Given the description of an element on the screen output the (x, y) to click on. 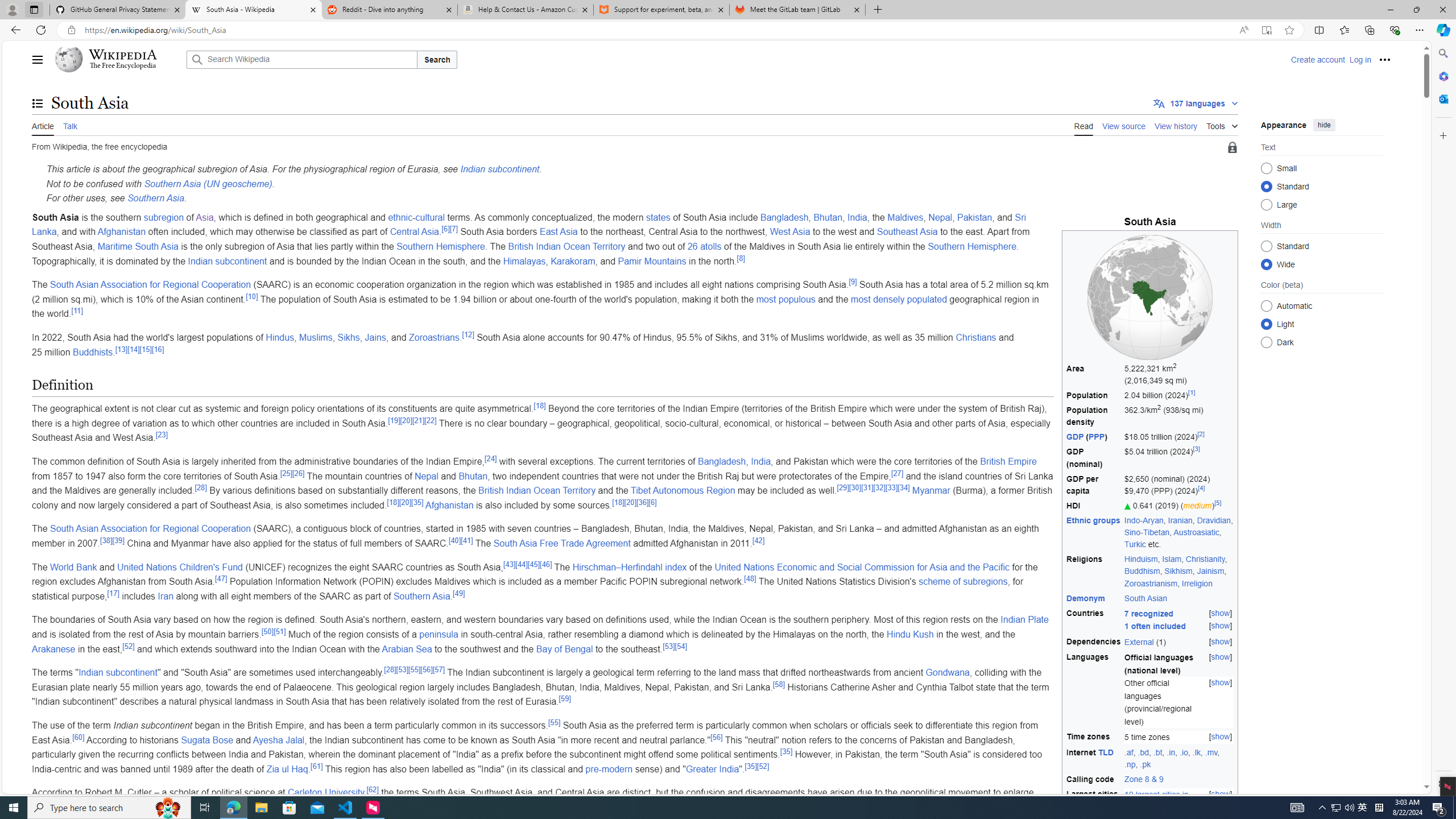
Class: infobox-image (1149, 296)
[9] (852, 280)
[15] (145, 348)
Southeast Asia (906, 231)
Zia ul Haq (287, 768)
[61] (316, 765)
[52] (763, 765)
Himalayas (524, 260)
Iran (165, 596)
Ayesha Jalal (277, 739)
World Bank (73, 566)
[19] (393, 420)
